Given the description of an element on the screen output the (x, y) to click on. 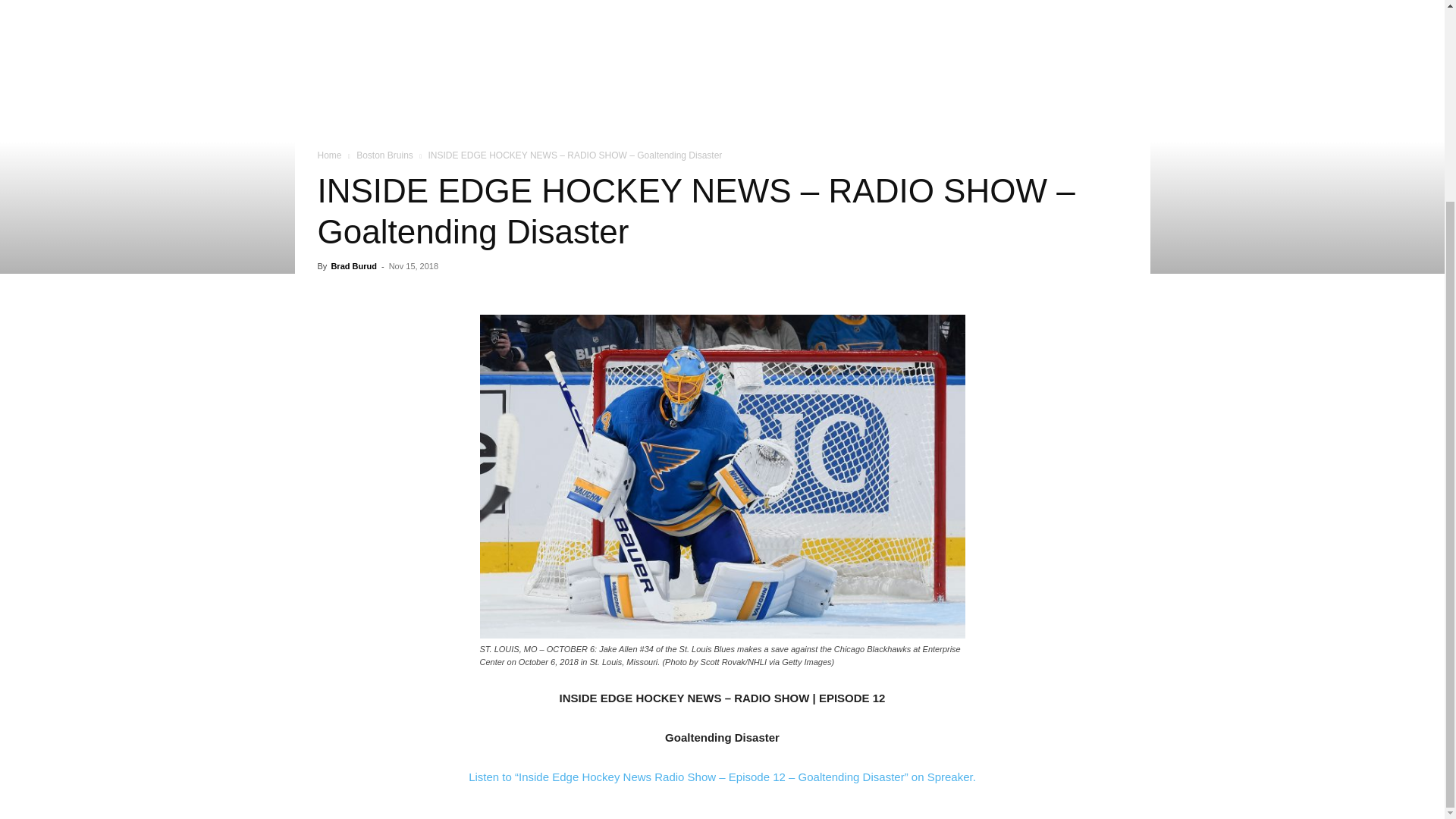
Home (328, 154)
Boston Bruins (384, 154)
View all posts in Boston Bruins (384, 154)
Brad Burud (353, 266)
